Given the description of an element on the screen output the (x, y) to click on. 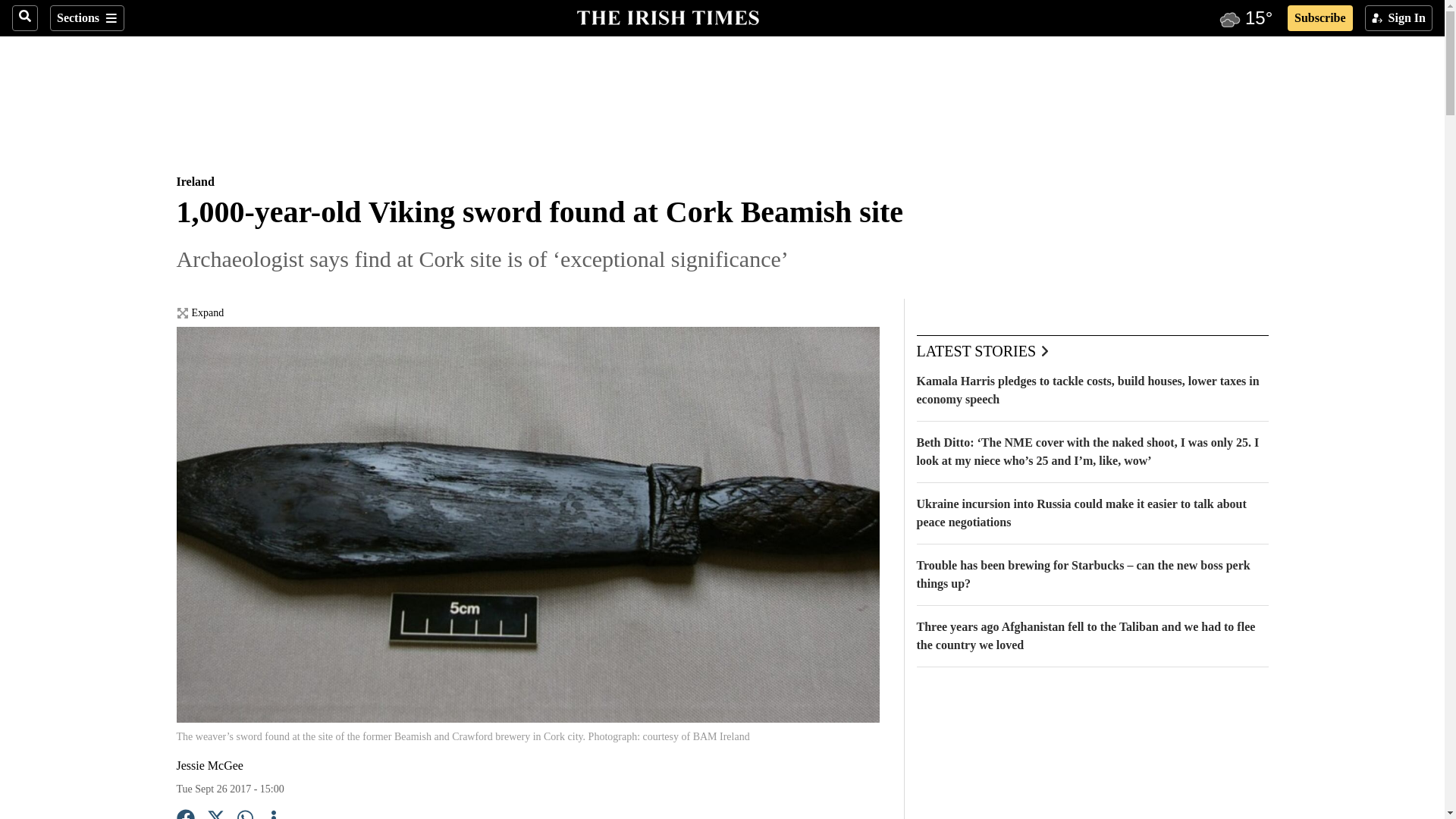
Facebook (184, 814)
WhatsApp (244, 814)
Subscribe (1319, 17)
The Irish Times (667, 16)
Sign In (1398, 17)
X (215, 814)
Sections (86, 17)
